Given the description of an element on the screen output the (x, y) to click on. 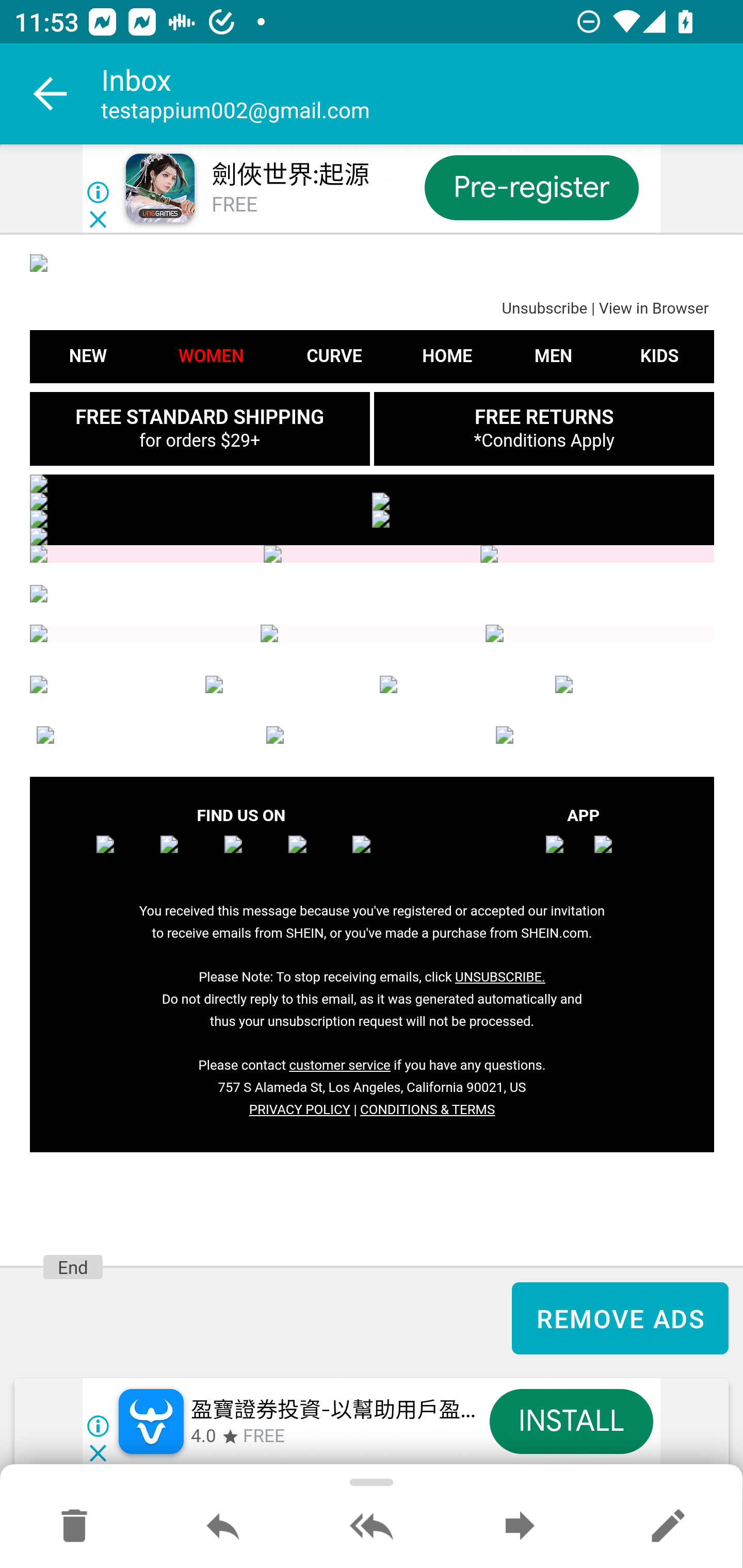
Navigate up (50, 93)
Inbox testappium002@gmail.com (422, 93)
Pre-register (530, 187)
劍俠世界:起源 (289, 175)
FREE (234, 204)
SHEIN (371, 262)
Unsubscribe (544, 309)
View in Browser (653, 309)
NEW (88, 356)
WOMEN (210, 356)
CURVE (333, 356)
HOME (446, 356)
MEN (553, 356)
KIDS (659, 356)
FREE STANDARD SHIPPING (199, 416)
FREE RETURNS (543, 416)
for orders $29+ (199, 440)
*Conditions Apply (544, 440)
SHOP THE SALE (371, 482)
SHOP NOW (200, 500)
SHOP NOW (543, 500)
SHOP NOW (200, 518)
SHOP NOW (543, 518)
SHOP WIGS, GET GIFTS (371, 536)
Shop By Wig Type (146, 554)
Shop By Wig Type (371, 554)
Shop By Wig Type (596, 554)
JOIN THE COMMUNITY (371, 594)
Find Us On Social (144, 634)
Find Us On Social (373, 634)
Find Us On Social (598, 634)
WOMEN (108, 684)
CURVE (284, 684)
MEN (458, 684)
KIDS (634, 684)
SHEIN CLUB (142, 734)
CONTACT PREFERENCES (371, 734)
SHEIN E-GIFT CARD (601, 734)
facebook (125, 856)
instagram (188, 856)
twitter (253, 856)
youtube (316, 856)
pinterest (380, 856)
apple (566, 856)
google (615, 856)
UNSUBSCRIBE. UNSUBSCRIBE . (499, 977)
customer service (340, 1066)
PRIVACY POLICY (299, 1109)
CONDITIONS & TERMS (427, 1109)
REMOVE ADS (619, 1318)
INSTALL (570, 1421)
盈寶證券投資-以幫助用戶盈… (333, 1410)
4.0 (203, 1436)
FREE (263, 1436)
Move to Deleted (74, 1527)
Reply (222, 1527)
Reply all (371, 1527)
Forward (519, 1527)
Reply as new (667, 1527)
